Given the description of an element on the screen output the (x, y) to click on. 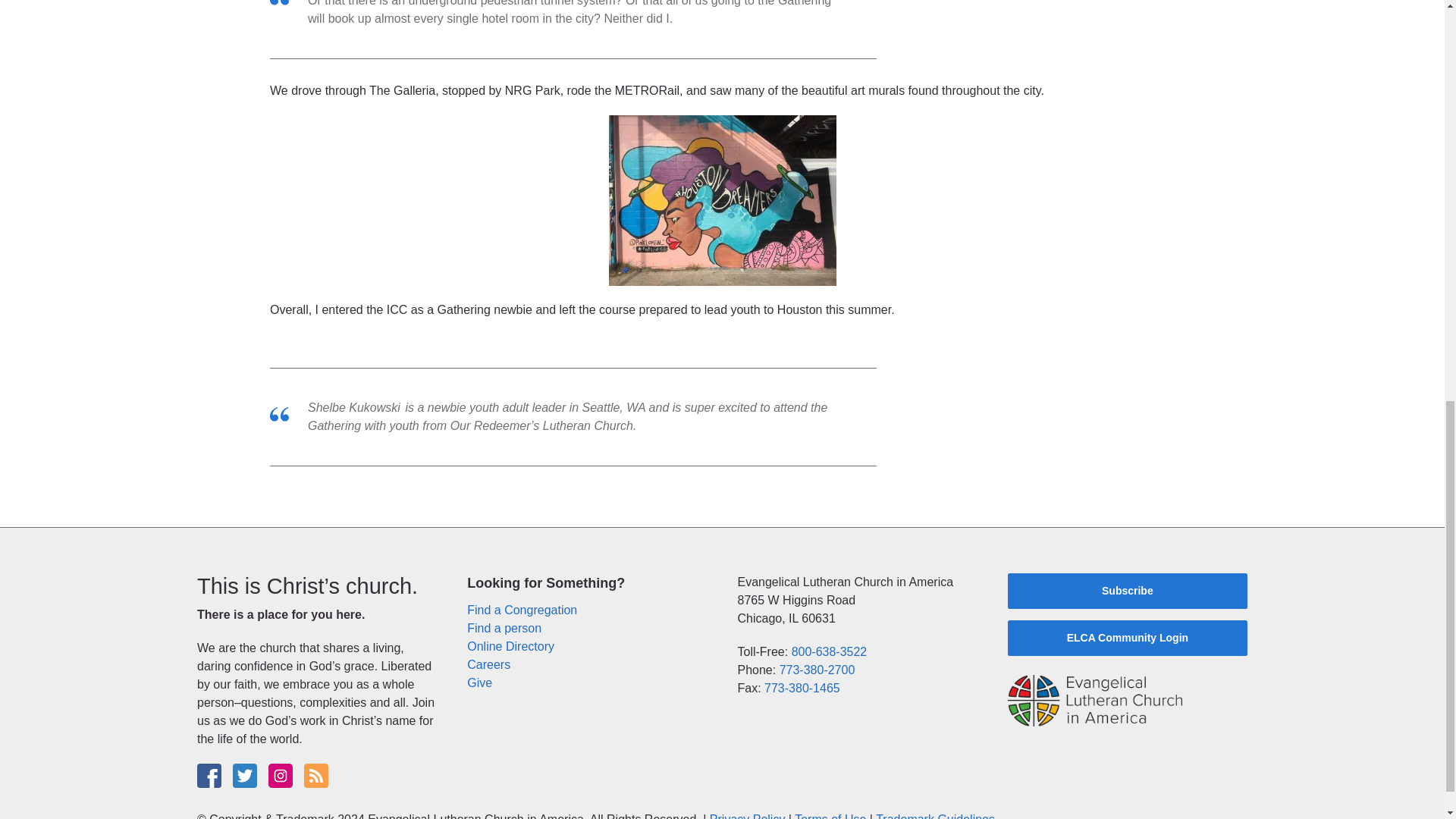
Careers (489, 664)
Find a Congregation (521, 609)
Find a person (504, 627)
Online Directory (510, 645)
Give (479, 682)
800-638-3522 (829, 651)
